Given the description of an element on the screen output the (x, y) to click on. 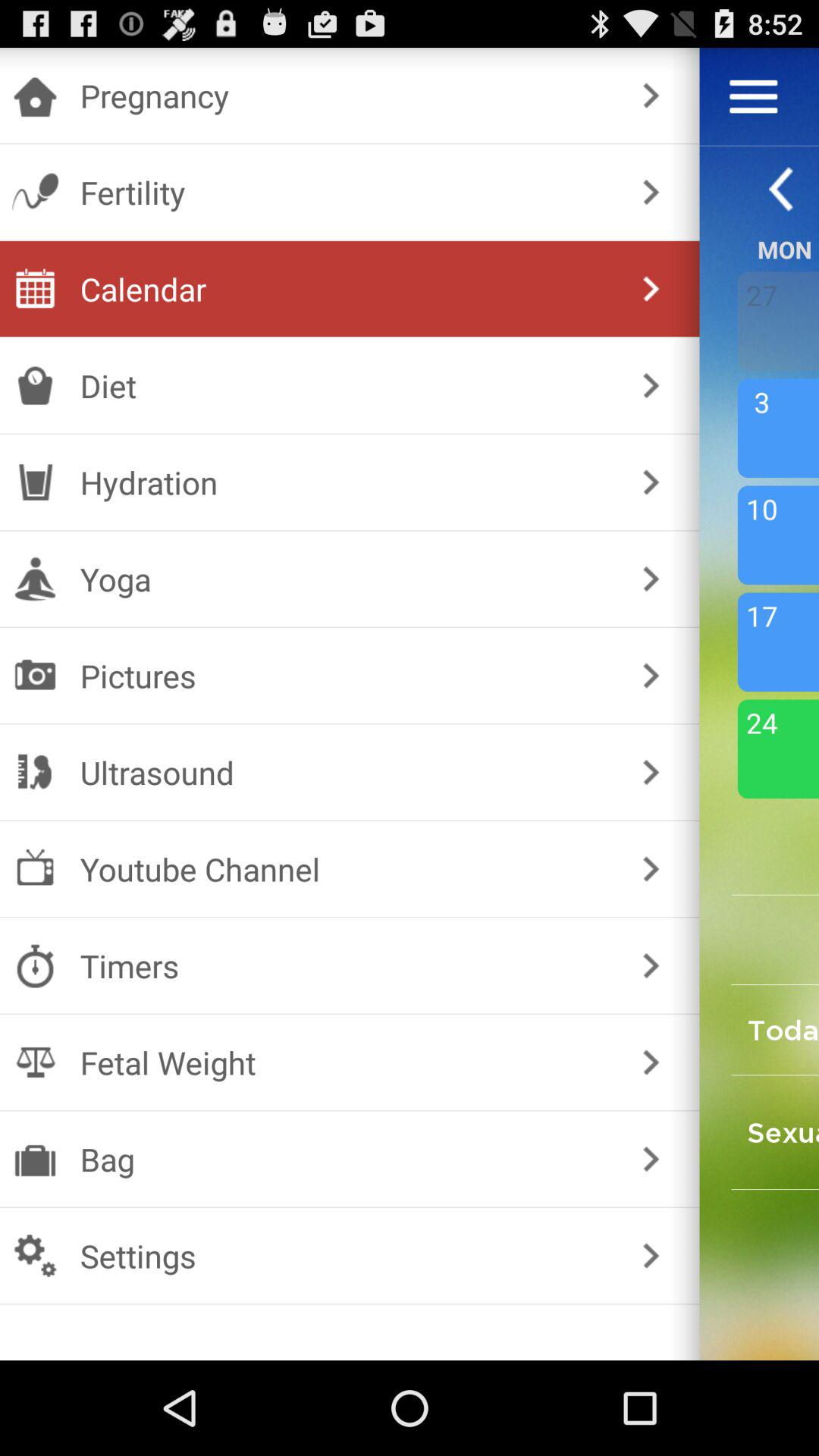
tap bag icon (346, 1158)
